Given the description of an element on the screen output the (x, y) to click on. 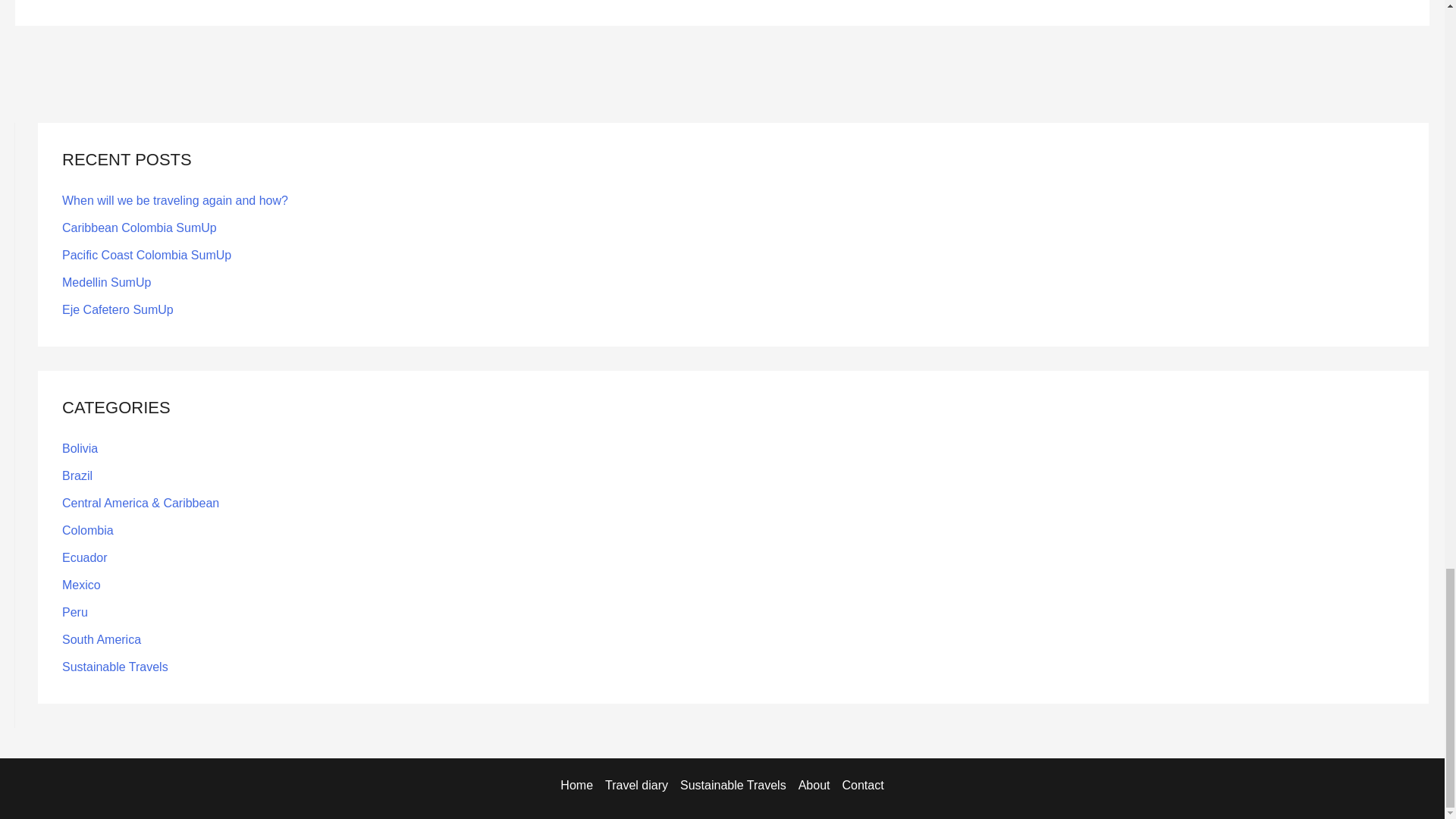
Bolivia (79, 448)
When will we be traveling again and how? (175, 200)
Caribbean Colombia SumUp (139, 227)
Brazil (77, 475)
Pacific Coast Colombia SumUp (146, 254)
Eje Cafetero SumUp (117, 309)
Medellin SumUp (106, 282)
